Given the description of an element on the screen output the (x, y) to click on. 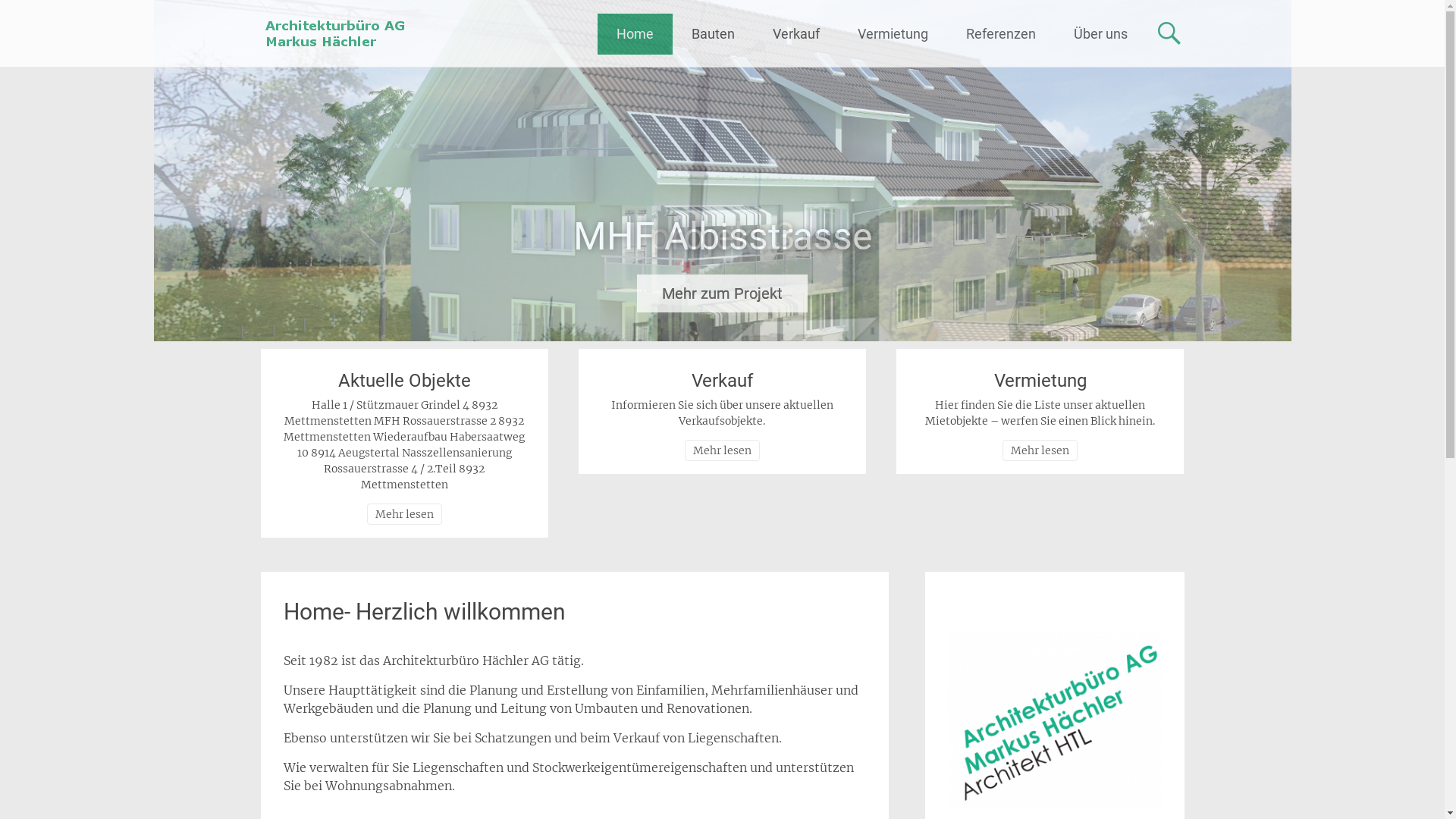
Vermietung Element type: text (892, 33)
Referenzen Element type: text (1000, 33)
Aktuelle Objekte Element type: text (404, 380)
Vermietung Element type: text (1040, 380)
MHF Albisstrasse Element type: hover (721, 170)
Mehr lesen Element type: text (404, 513)
Verkauf Element type: text (795, 33)
Home- Herzlich willkommen Element type: text (424, 611)
Verkauf Element type: text (722, 380)
Home Element type: text (634, 33)
Mehr zum Projekt Element type: text (722, 293)
Mehr lesen Element type: text (721, 450)
Zum Inhalt springen Element type: text (670, 22)
Mehr lesen Element type: text (1039, 450)
Bauten Element type: text (712, 33)
